Given the description of an element on the screen output the (x, y) to click on. 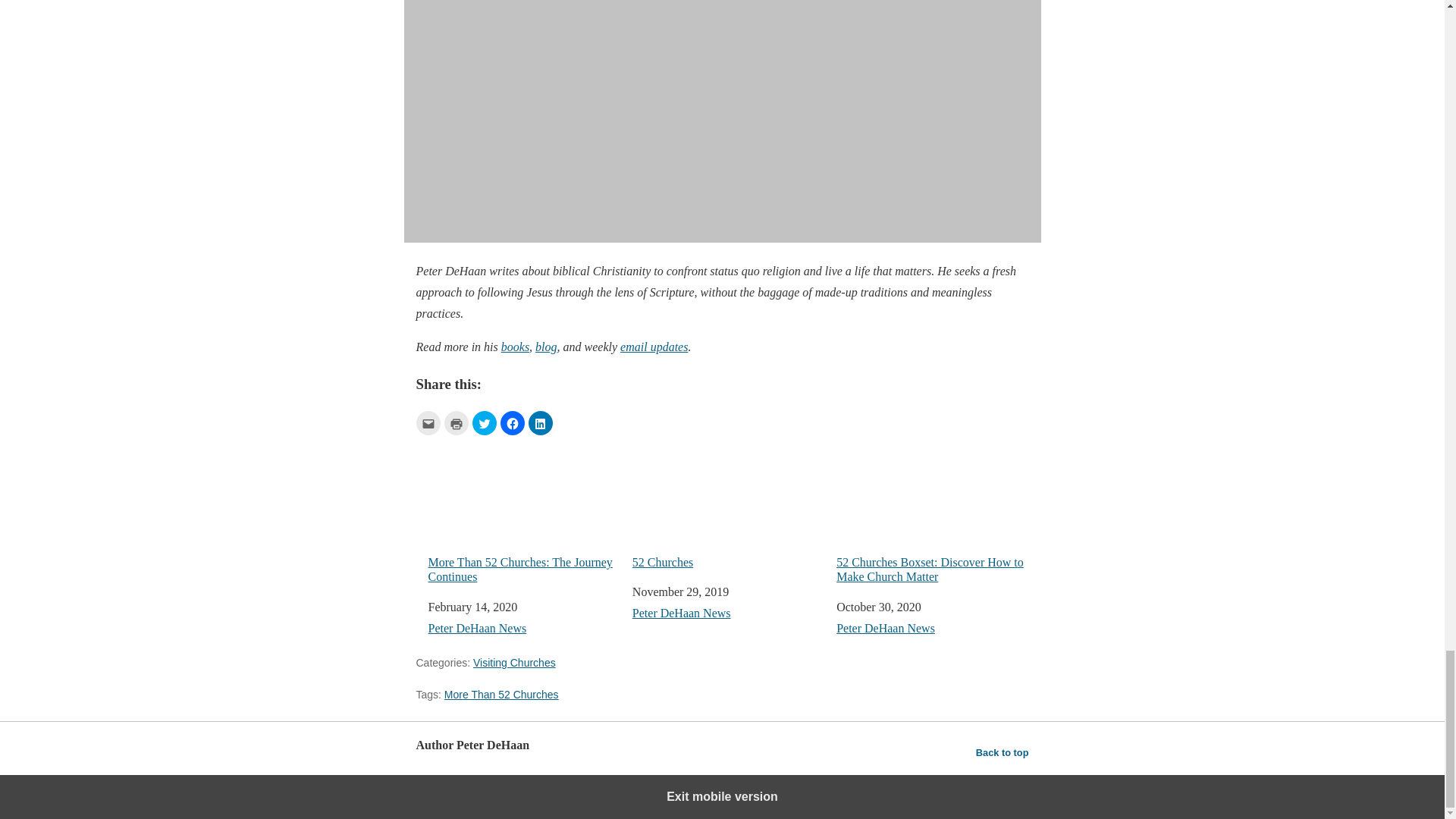
Click to share on Facebook (512, 422)
Click to share on LinkedIn (539, 422)
52 Churches (727, 503)
email updates (653, 346)
Back to top (1002, 752)
Peter DeHaan News (476, 627)
Click to share on Email (426, 422)
Print (456, 422)
Visiting Churches (514, 662)
Peter DeHaan News (680, 612)
